Given the description of an element on the screen output the (x, y) to click on. 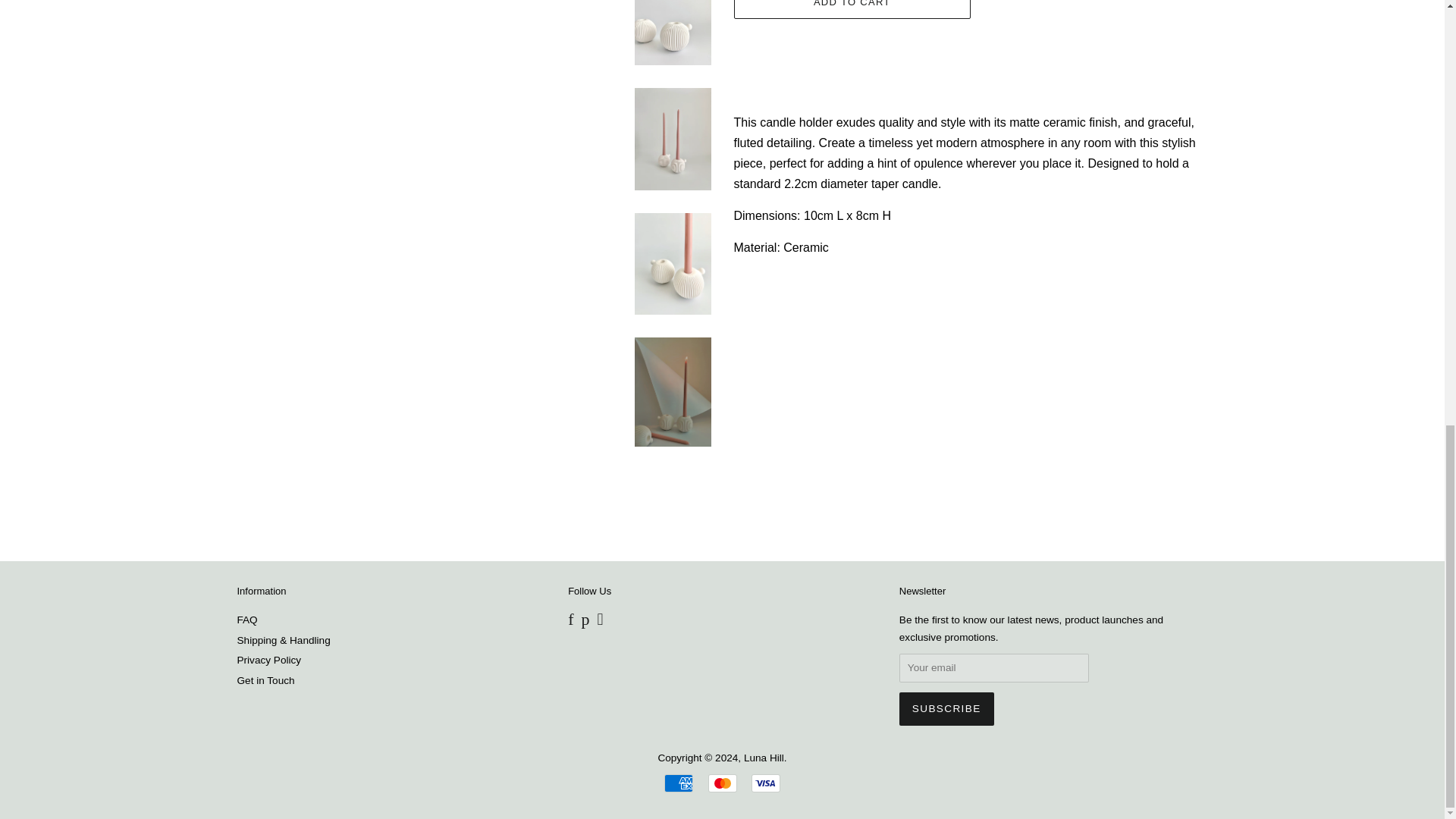
Subscribe (946, 708)
Mastercard (721, 782)
American Express (678, 782)
Visa (765, 782)
